Given the description of an element on the screen output the (x, y) to click on. 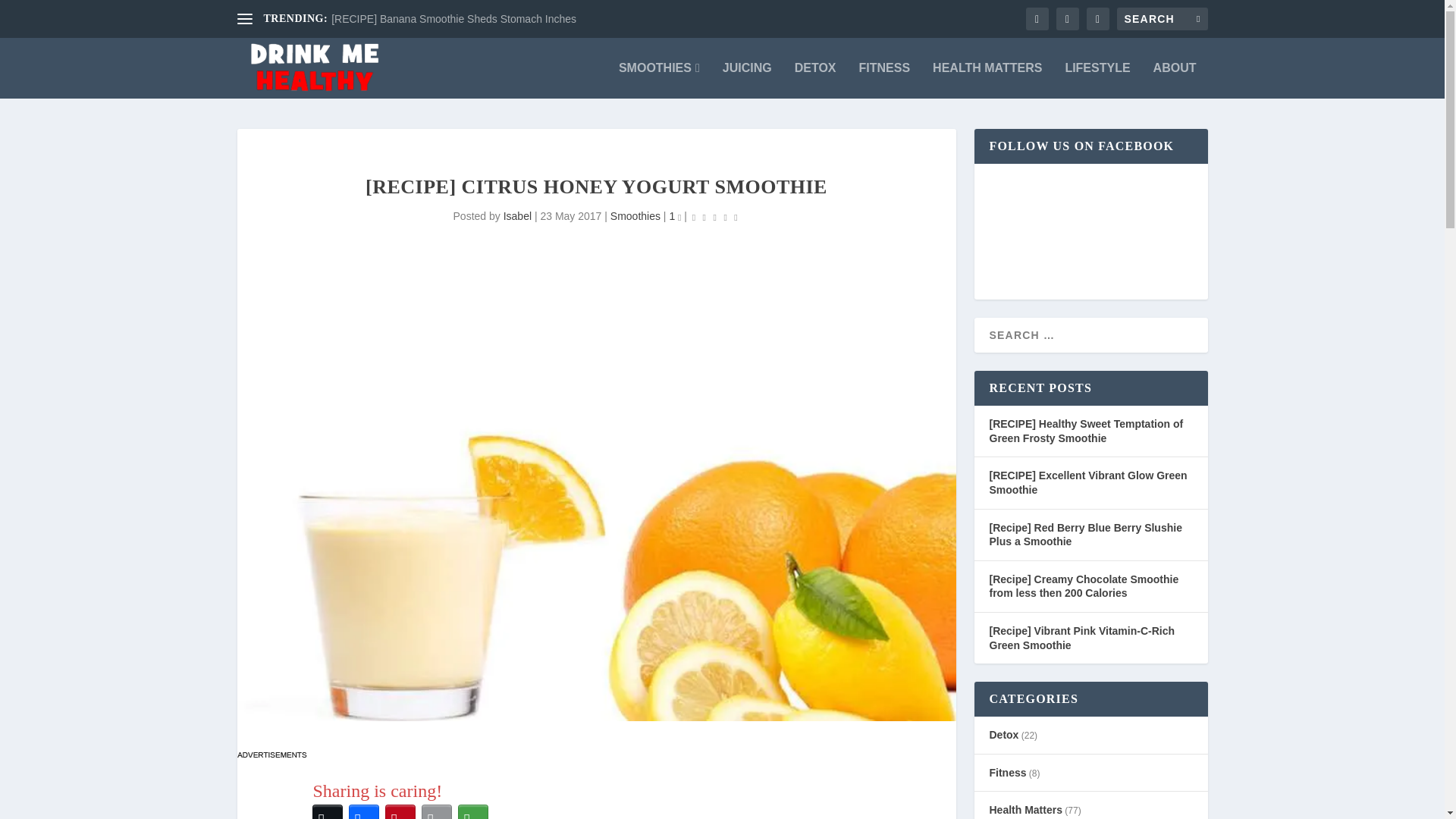
JUICING (746, 80)
HEALTH MATTERS (987, 80)
More Options (473, 810)
SMOOTHIES (659, 80)
ABOUT (1174, 80)
Email This (436, 810)
FITNESS (885, 80)
LIFESTYLE (1096, 80)
Facebook (363, 810)
Rating: 0.00 (714, 217)
